Given the description of an element on the screen output the (x, y) to click on. 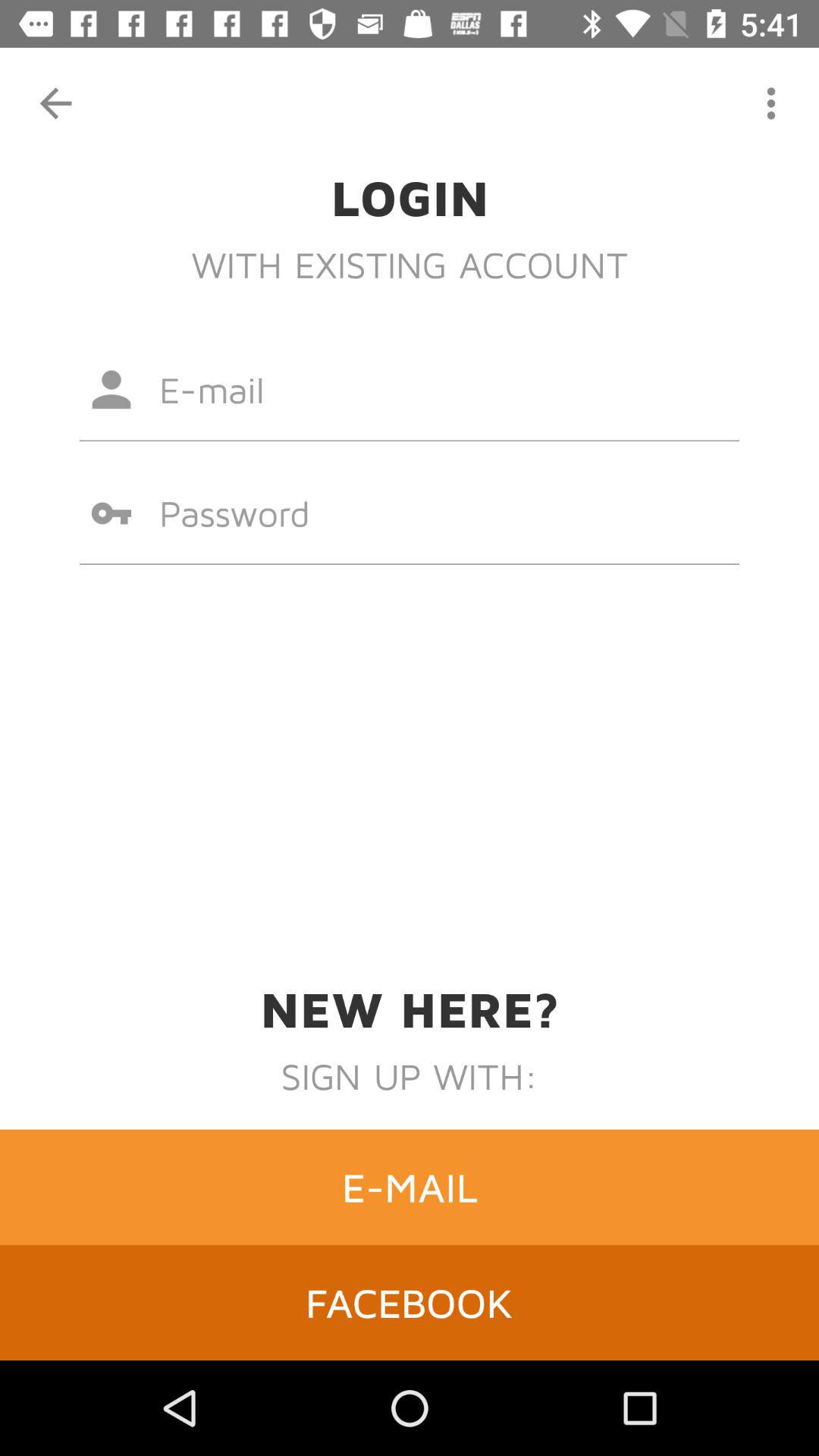
press item above login icon (771, 103)
